Given the description of an element on the screen output the (x, y) to click on. 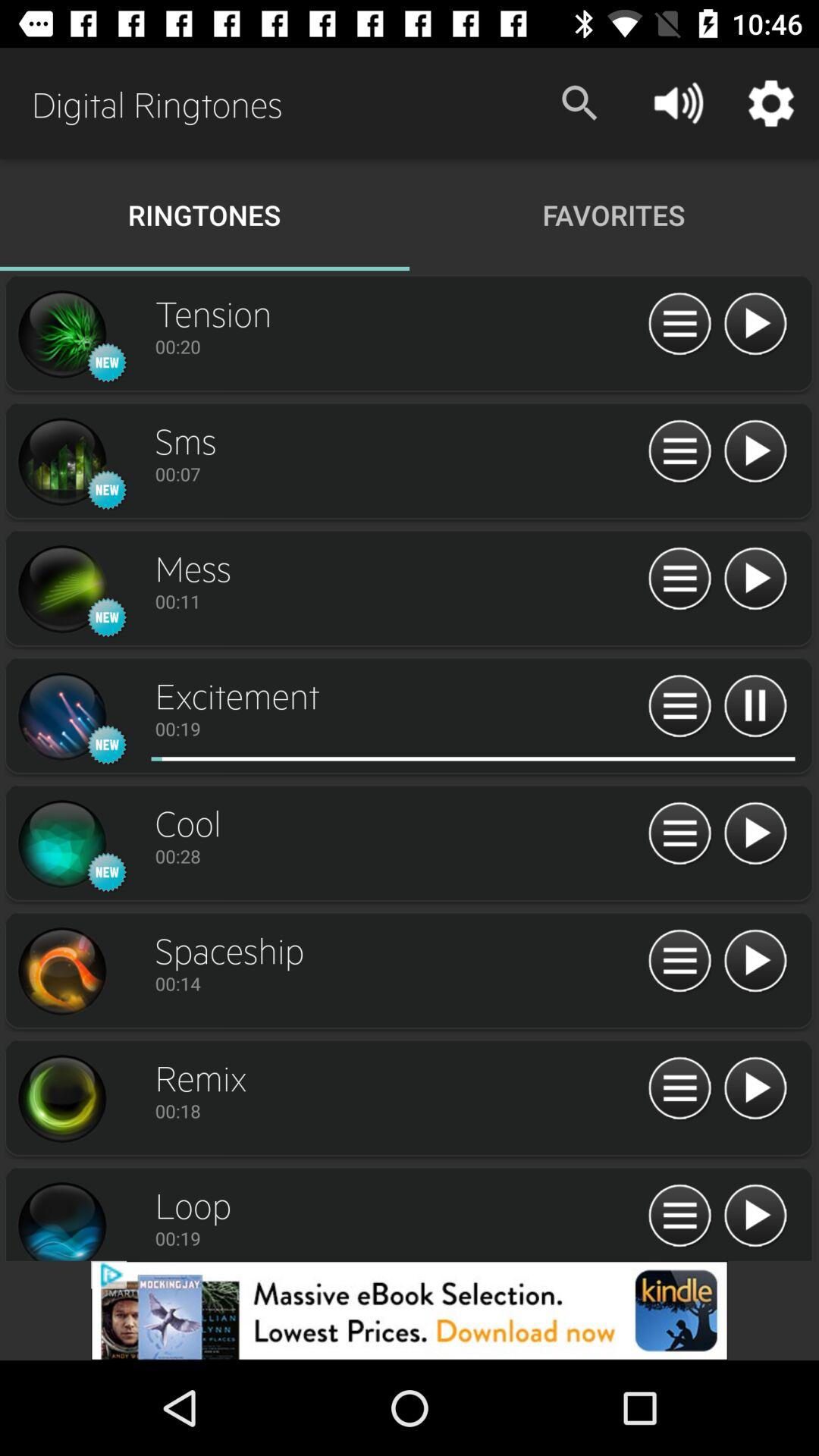
simpal (61, 971)
